Given the description of an element on the screen output the (x, y) to click on. 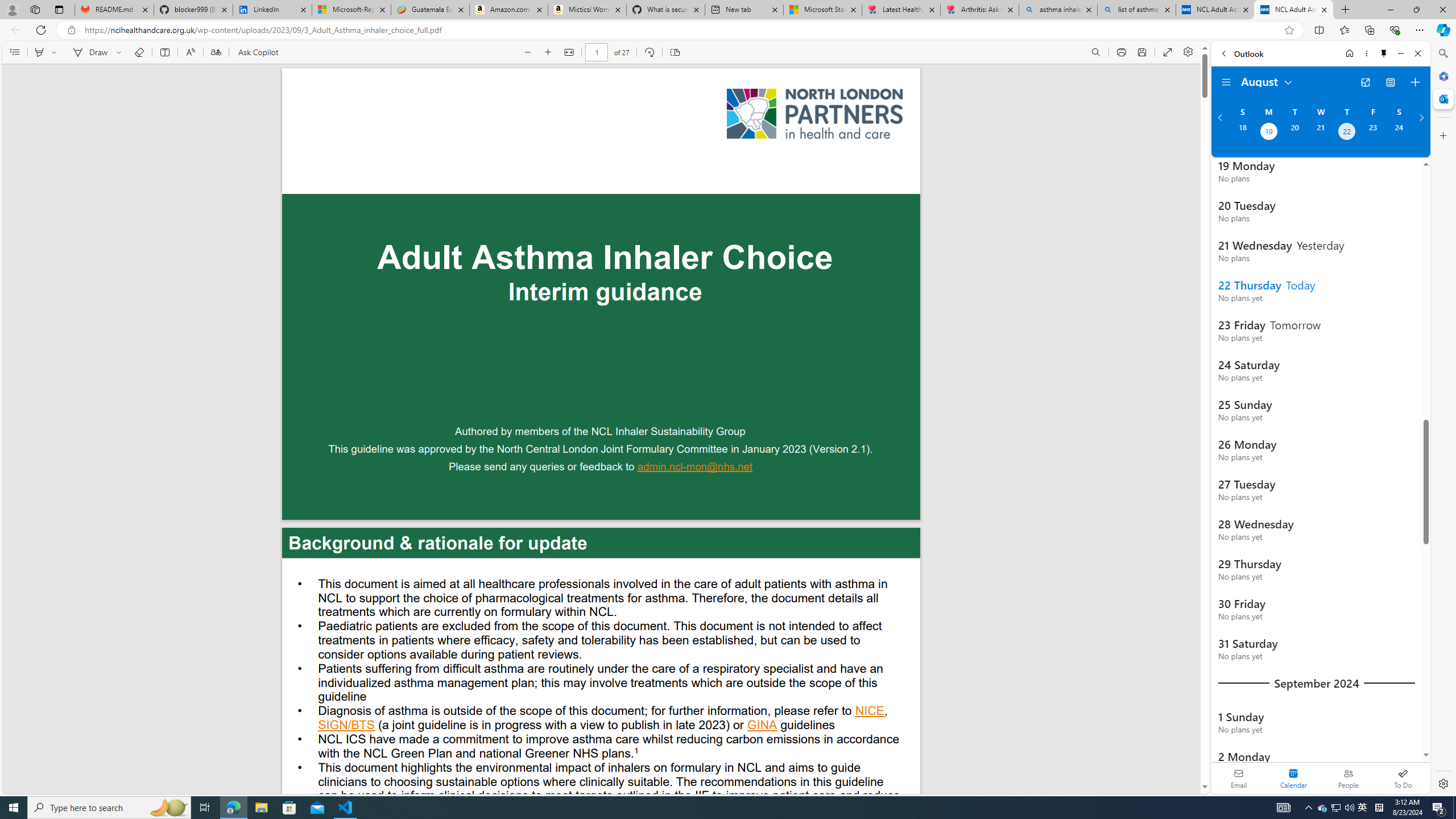
Add text (164, 52)
Select a highlight color (56, 52)
Create event (1414, 82)
SIGN/BTS (346, 726)
Wednesday, August 21, 2024.  (1320, 132)
